Given the description of an element on the screen output the (x, y) to click on. 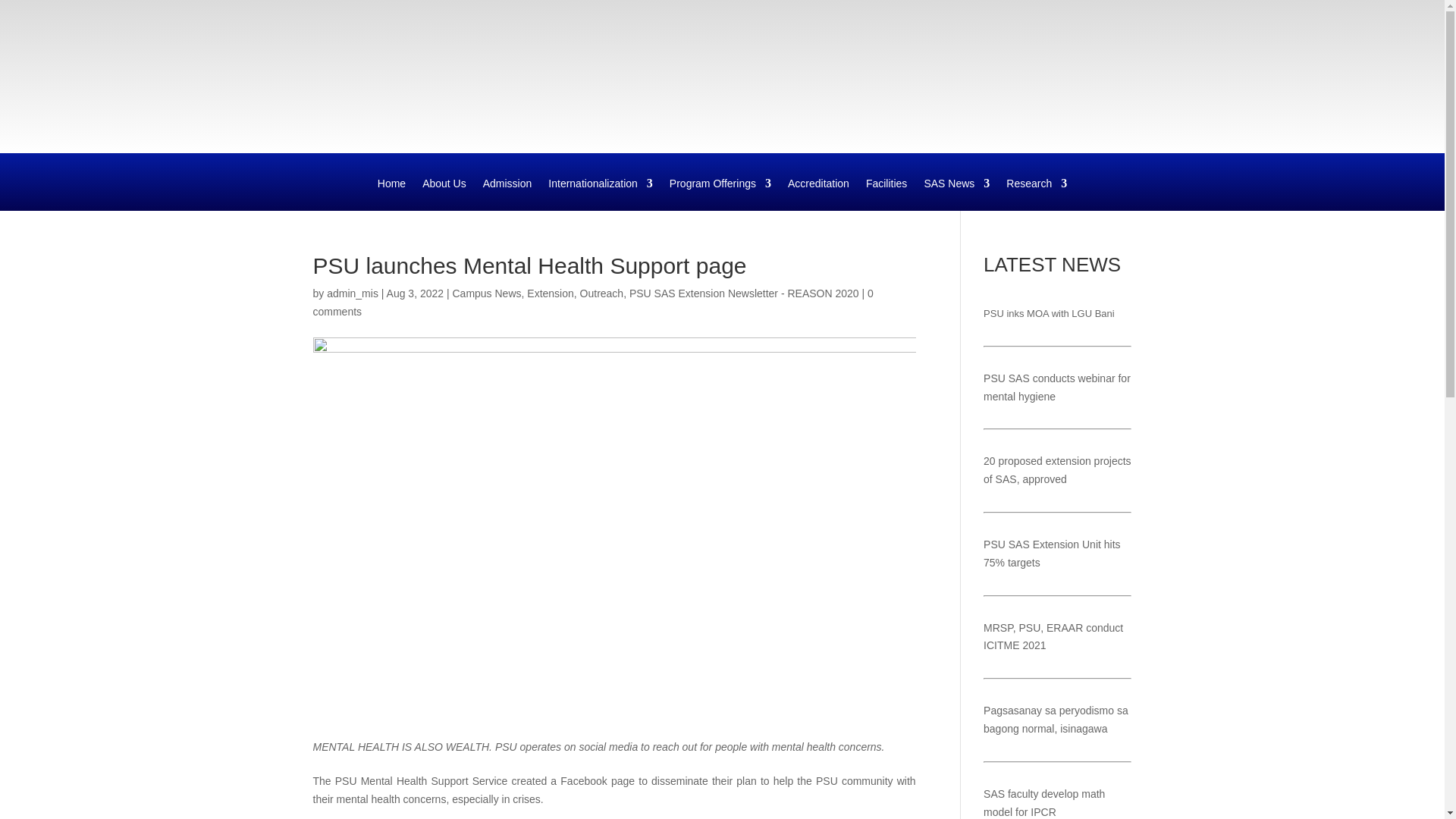
Program Offerings (720, 194)
PSU SAS Extension Newsletter - REASON 2020 (743, 293)
Accreditation (817, 194)
SAS News (956, 194)
PSU inks MOA with LGU Bani (1049, 313)
Admission (507, 194)
Outreach (601, 293)
Extension (550, 293)
About Us (443, 194)
Research (1036, 194)
